Given the description of an element on the screen output the (x, y) to click on. 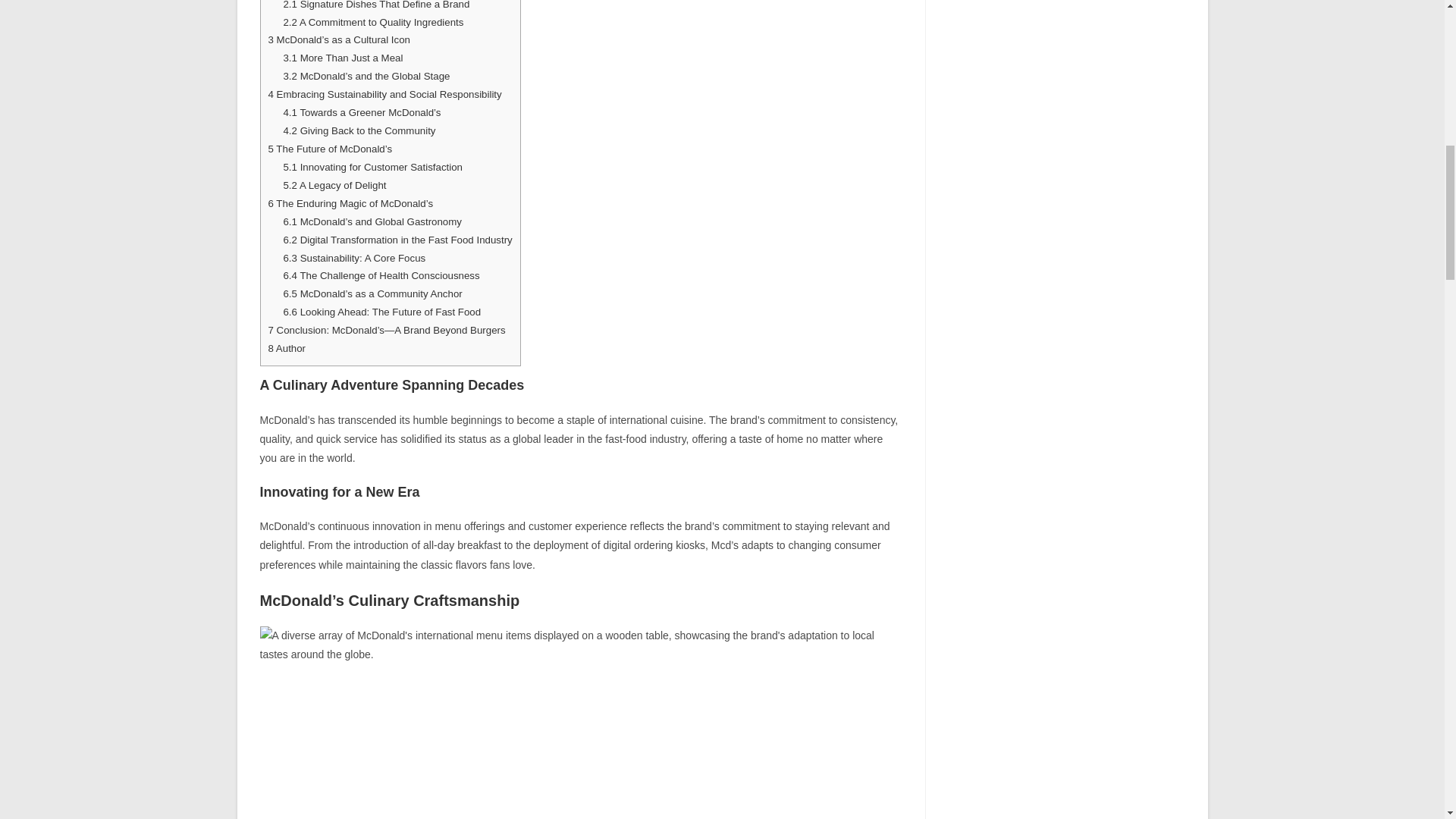
4 Embracing Sustainability and Social Responsibility (384, 93)
6.4 The Challenge of Health Consciousness (380, 275)
6.2 Digital Transformation in the Fast Food Industry (397, 239)
6.6 Looking Ahead: The Future of Fast Food (381, 311)
5.1 Innovating for Customer Satisfaction (372, 166)
4.2 Giving Back to the Community (358, 130)
3.1 More Than Just a Meal (342, 57)
2.1 Signature Dishes That Define a Brand (375, 4)
6.3 Sustainability: A Core Focus (353, 257)
5.2 A Legacy of Delight (333, 184)
